Given the description of an element on the screen output the (x, y) to click on. 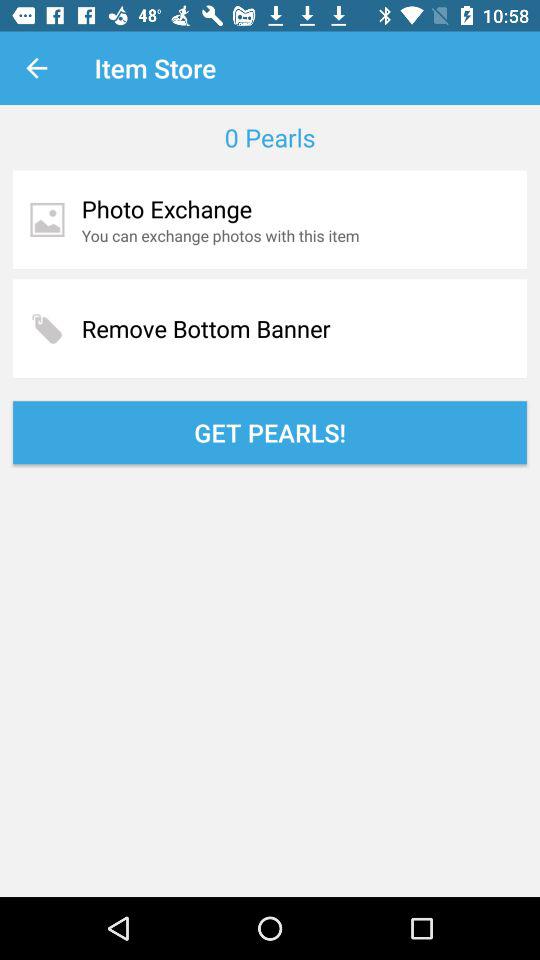
turn on icon to the left of item store (36, 68)
